Given the description of an element on the screen output the (x, y) to click on. 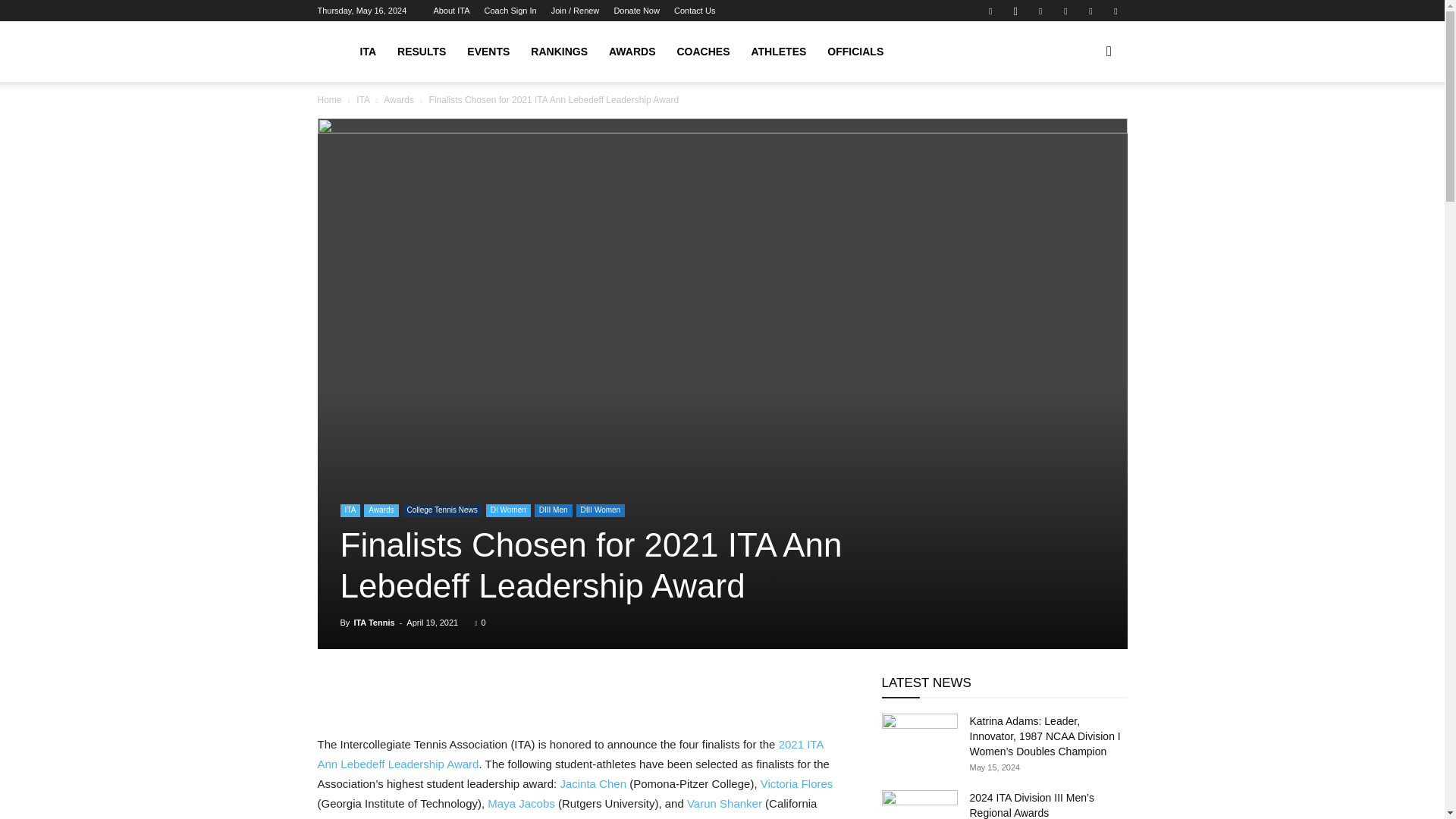
Youtube (1114, 10)
TikTok (1065, 10)
Facebook (989, 10)
Twitter (1090, 10)
Instagram (1015, 10)
Linkedin (1040, 10)
